Given the description of an element on the screen output the (x, y) to click on. 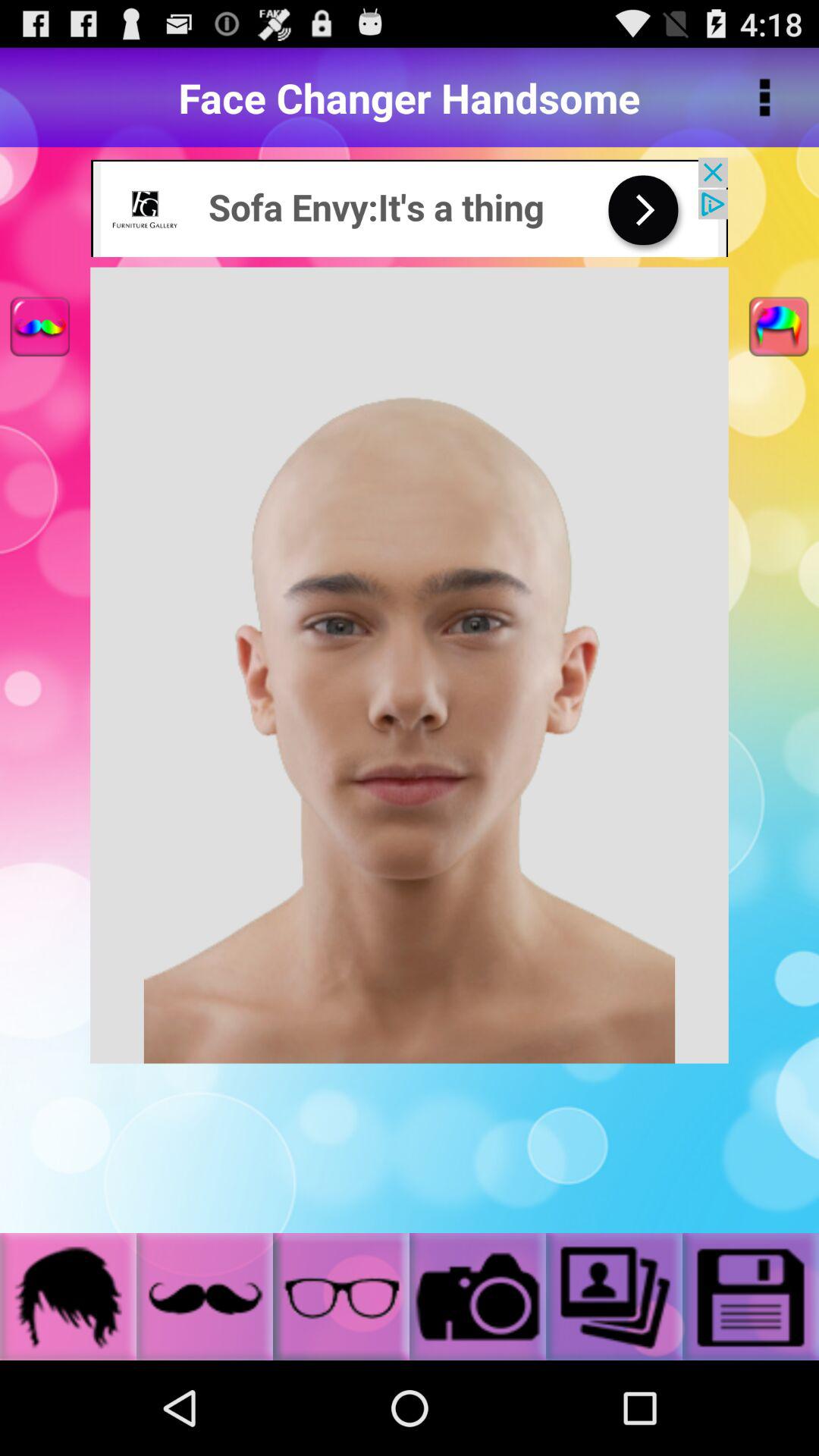
save photo (750, 1296)
